Given the description of an element on the screen output the (x, y) to click on. 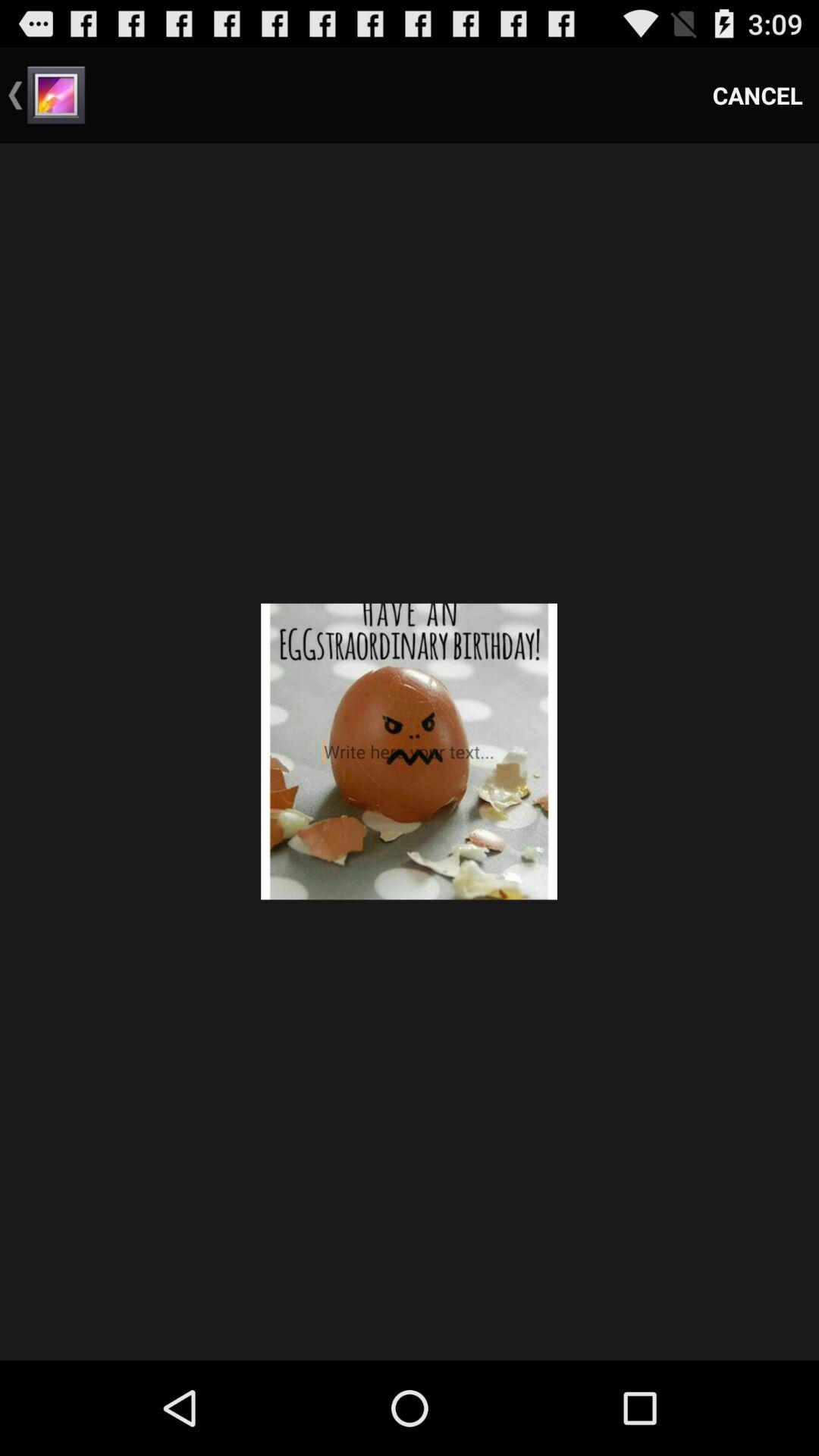
tap the cancel (757, 95)
